Given the description of an element on the screen output the (x, y) to click on. 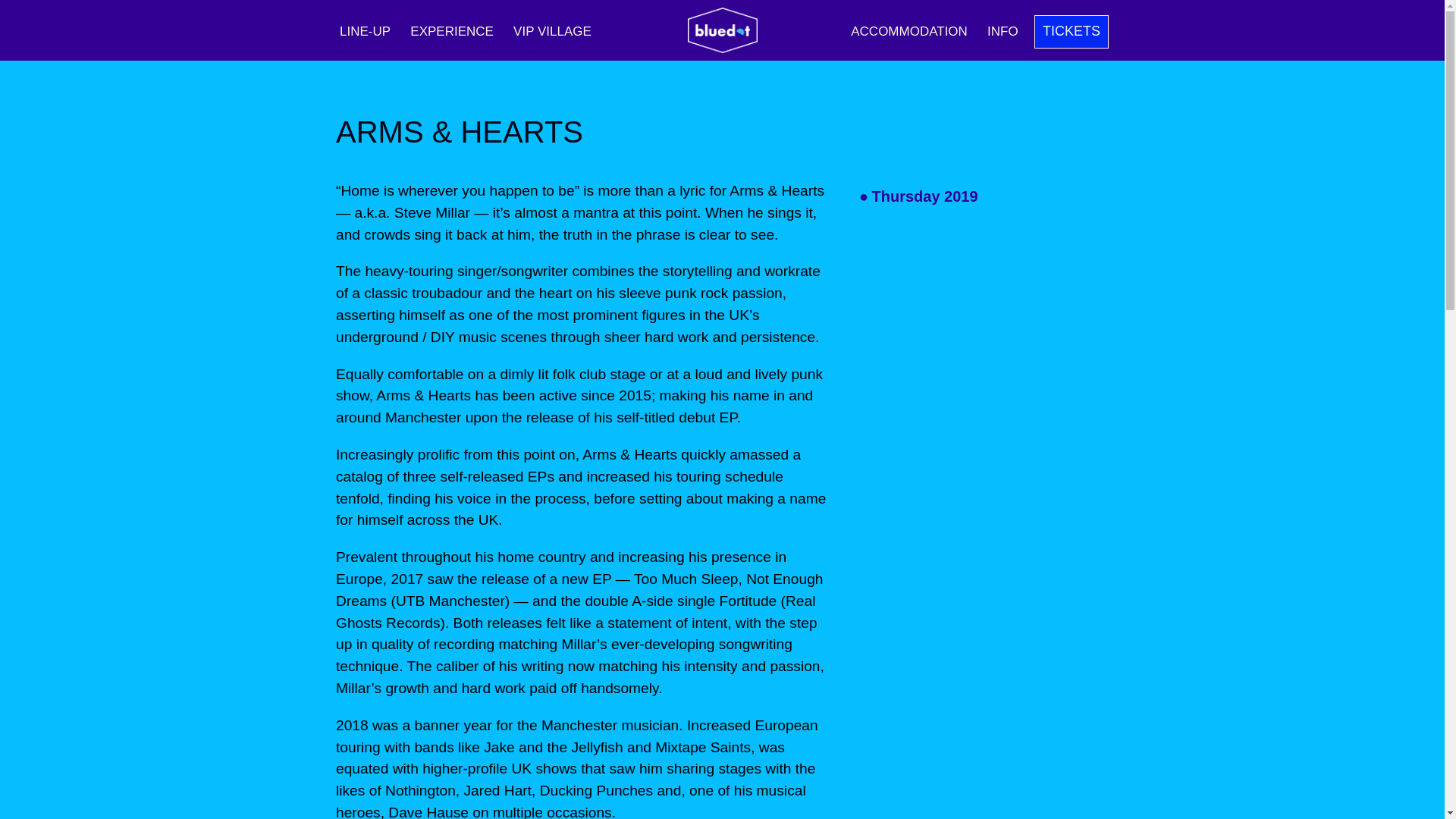
TICKETS (1070, 31)
EXPERIENCE (451, 31)
VIP VILLAGE (552, 31)
INFO (1003, 31)
ACCOMMODATION (909, 31)
LINE-UP (365, 31)
